Given the description of an element on the screen output the (x, y) to click on. 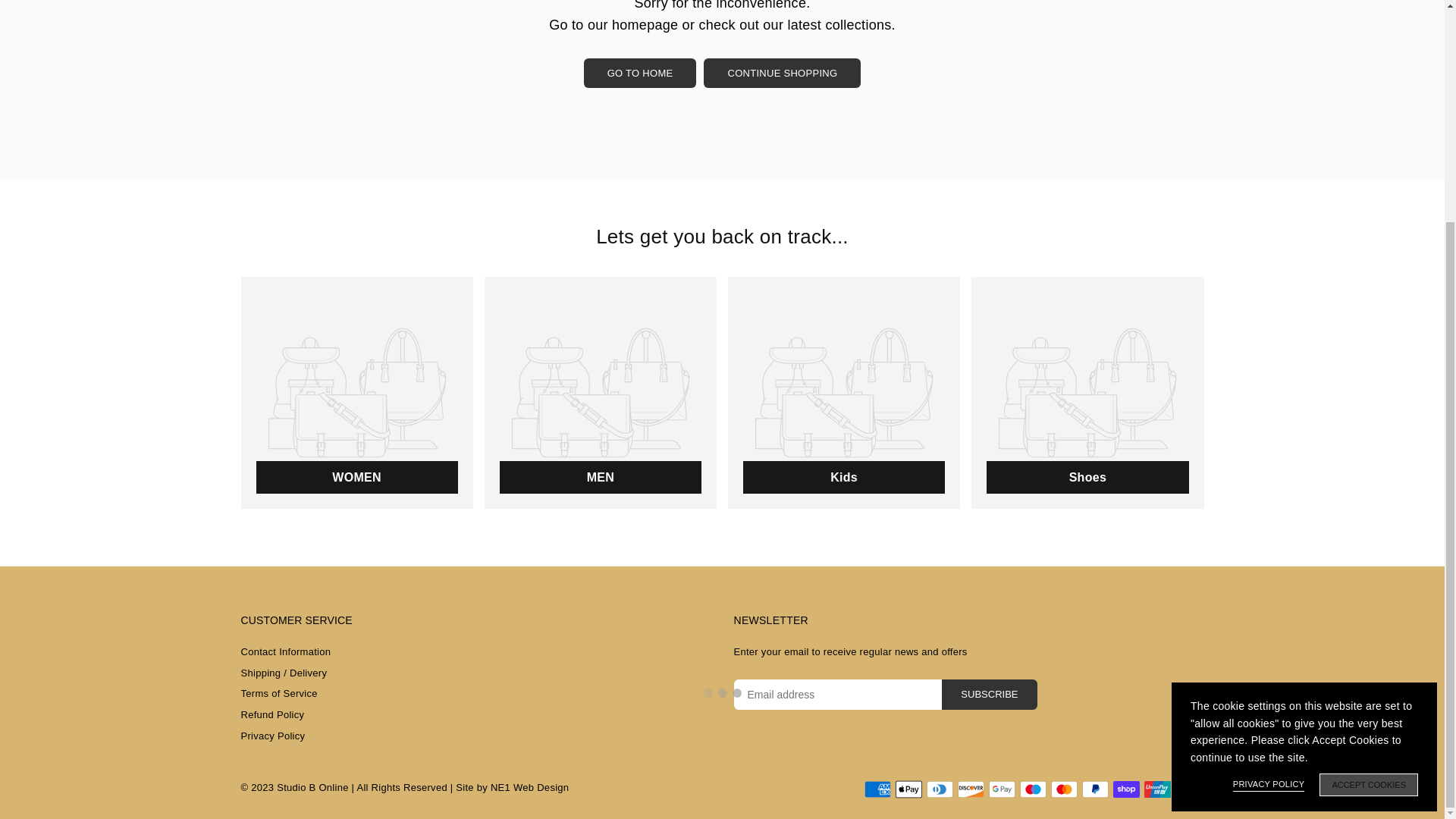
Visa (1188, 789)
Maestro (1032, 789)
SUBSCRIBE (989, 694)
Shoes (1087, 392)
Diners Club (939, 789)
Discover (970, 789)
WOMEN (357, 392)
MEN (600, 392)
American Express (877, 789)
Union Pay (1156, 789)
Google Pay (1001, 789)
Shop Pay (1126, 789)
Kids (843, 392)
Apple Pay (908, 789)
Mastercard (1064, 789)
